Given the description of an element on the screen output the (x, y) to click on. 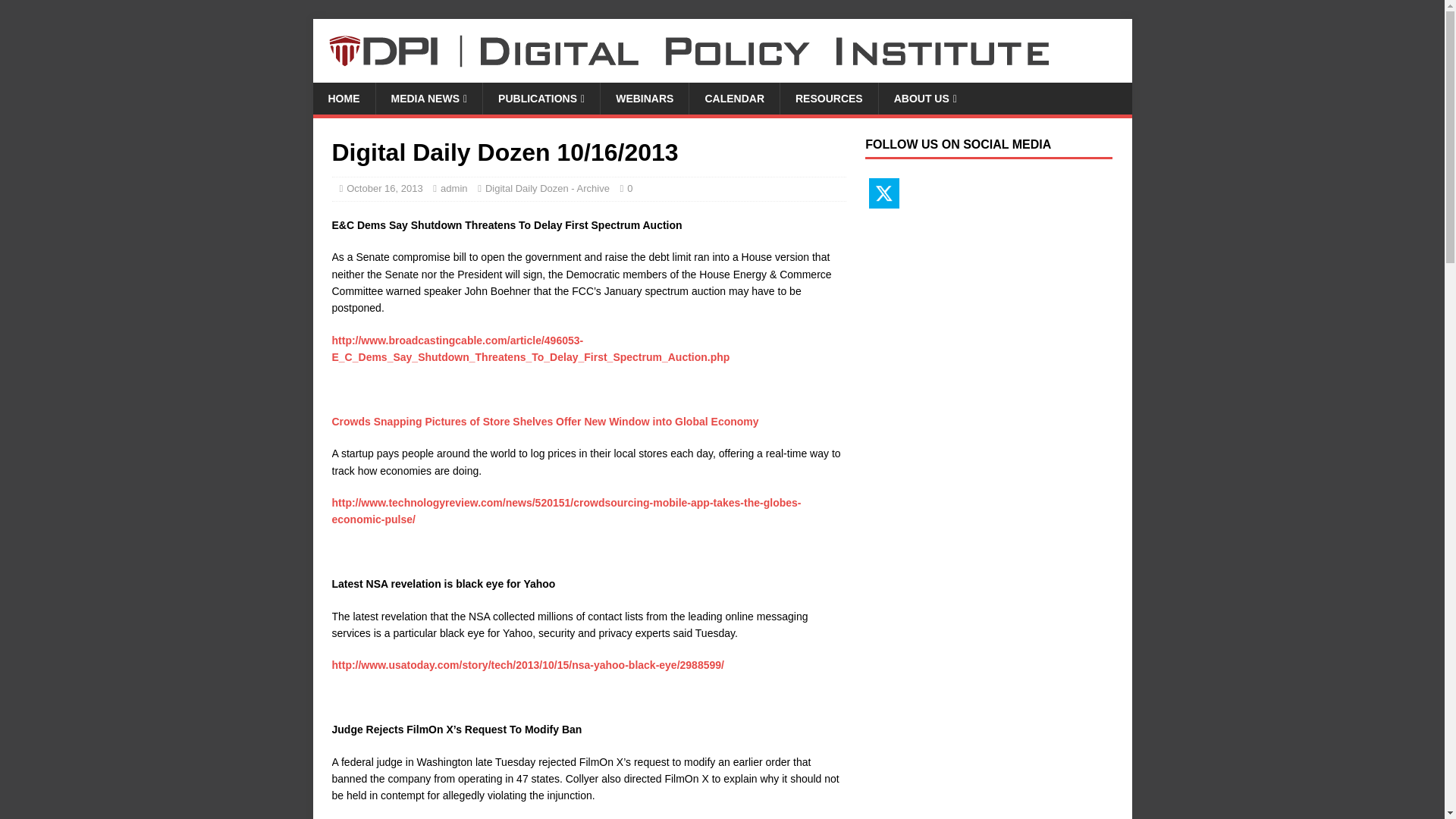
Digital Daily Dozen - Archive (547, 188)
RESOURCES (827, 98)
ABOUT US (924, 98)
MEDIA NEWS (427, 98)
CALENDAR (733, 98)
WEBINARS (643, 98)
admin (454, 188)
HOME (343, 98)
October 16, 2013 (384, 188)
